Given the description of an element on the screen output the (x, y) to click on. 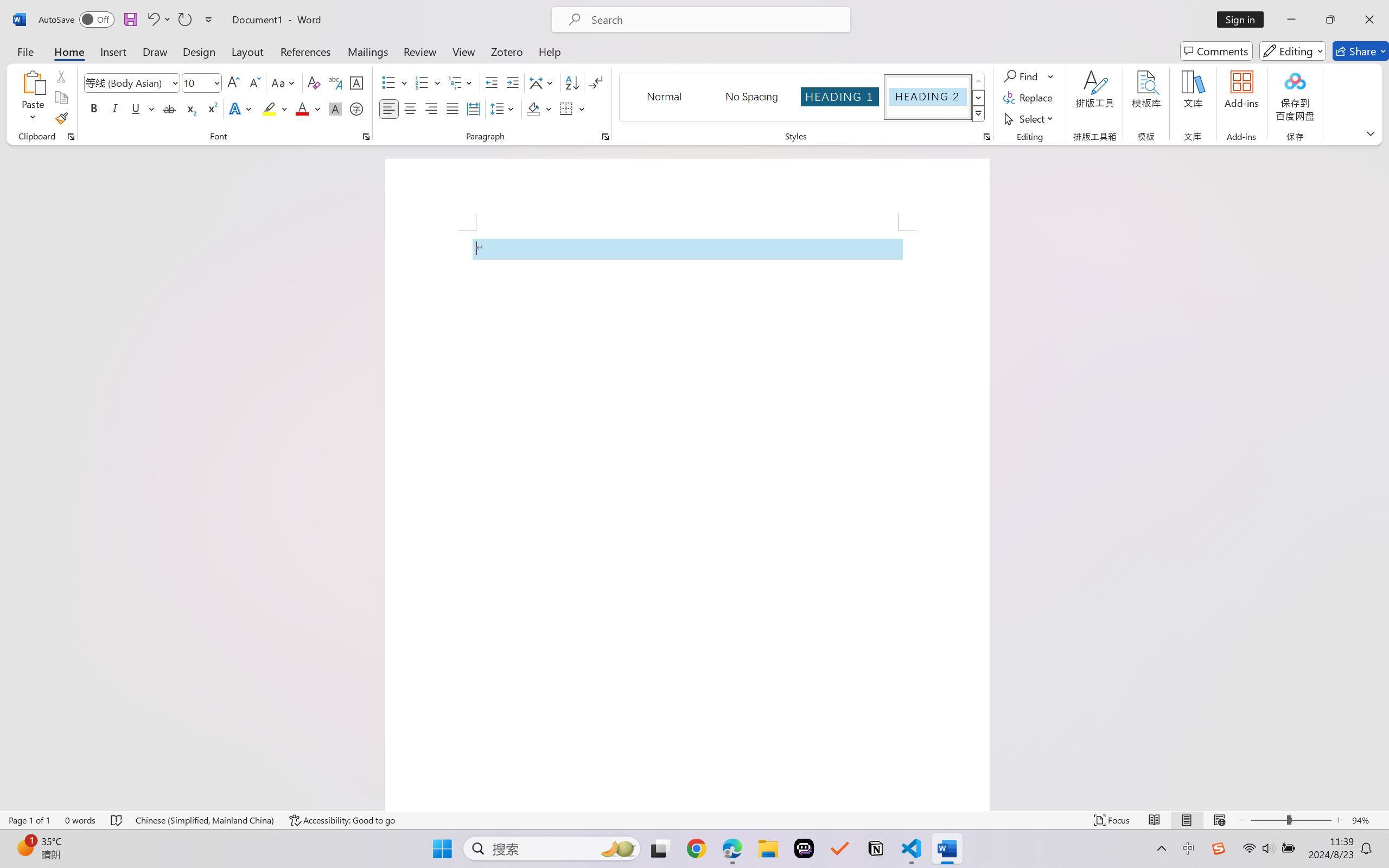
Shading No Color (533, 108)
